Given the description of an element on the screen output the (x, y) to click on. 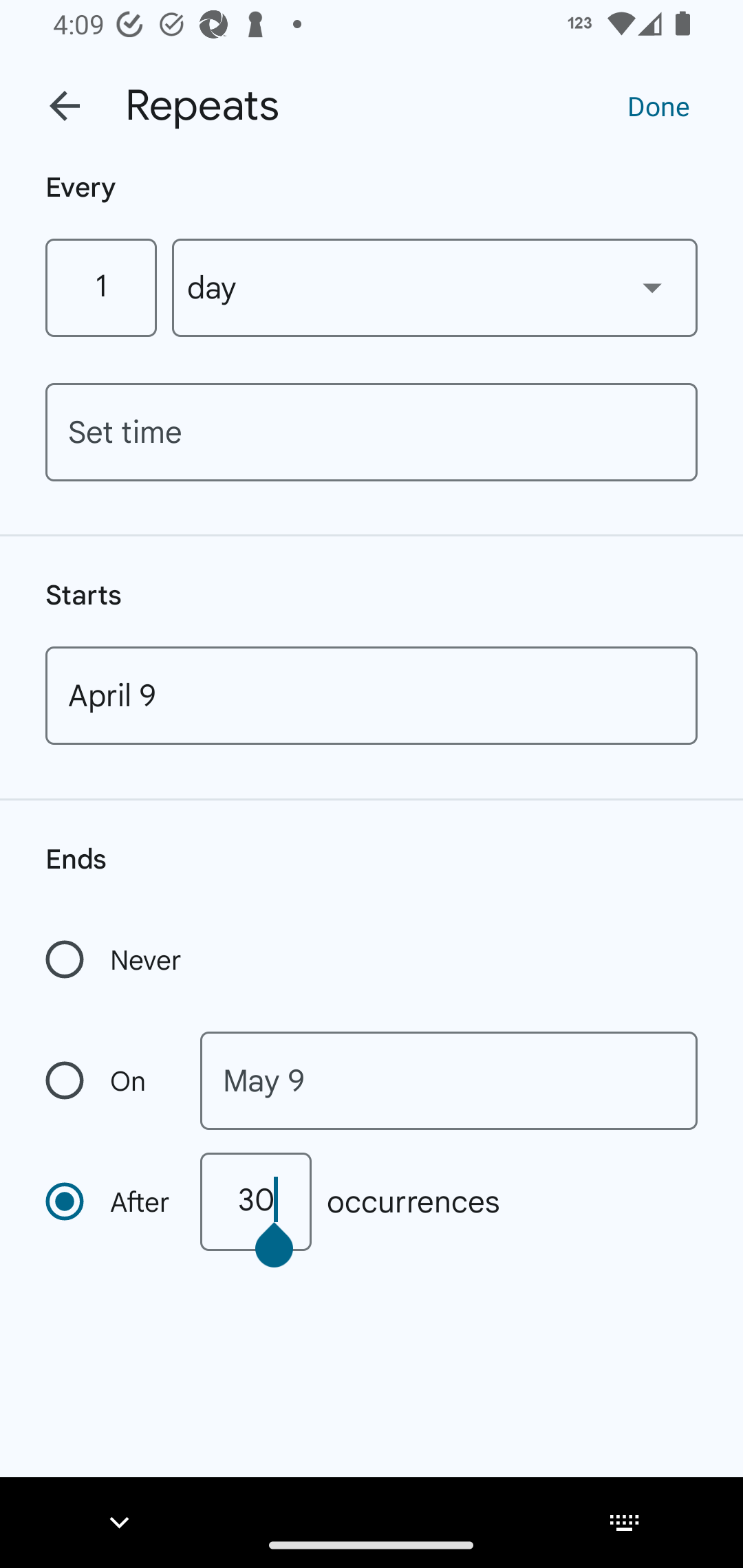
Back (64, 105)
Done (658, 105)
1 (100, 287)
day (434, 287)
Show dropdown menu (652, 286)
Set time (371, 431)
April 9 (371, 695)
Never Recurrence never ends (115, 959)
May 9 (448, 1080)
On Recurrence ends on a specific date (109, 1080)
30 (255, 1201)
